Given the description of an element on the screen output the (x, y) to click on. 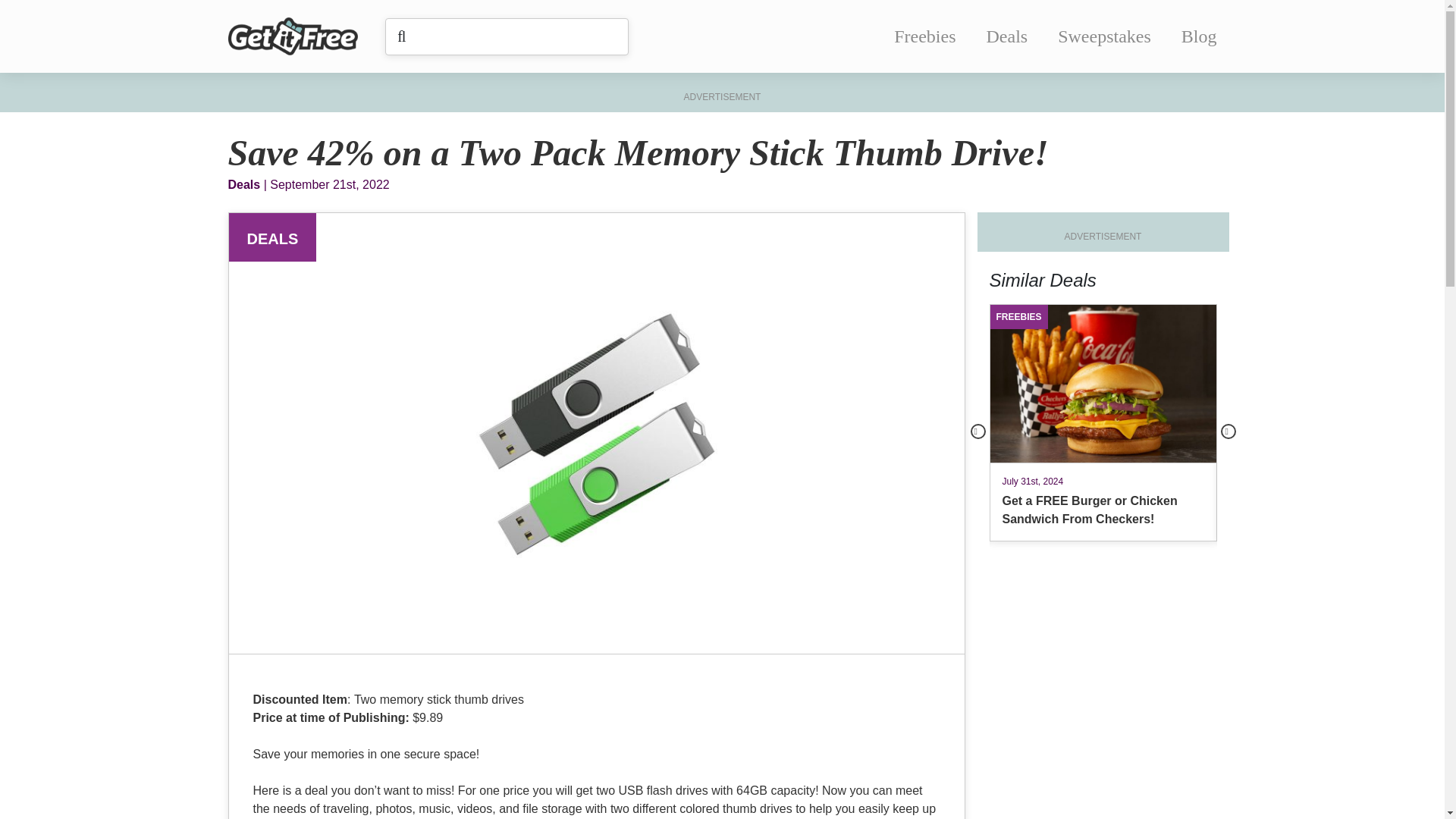
Sweepstakes (1104, 35)
Next (1228, 431)
Freebies (924, 35)
Previous (978, 431)
Deals (1007, 35)
Blog (1198, 35)
